Given the description of an element on the screen output the (x, y) to click on. 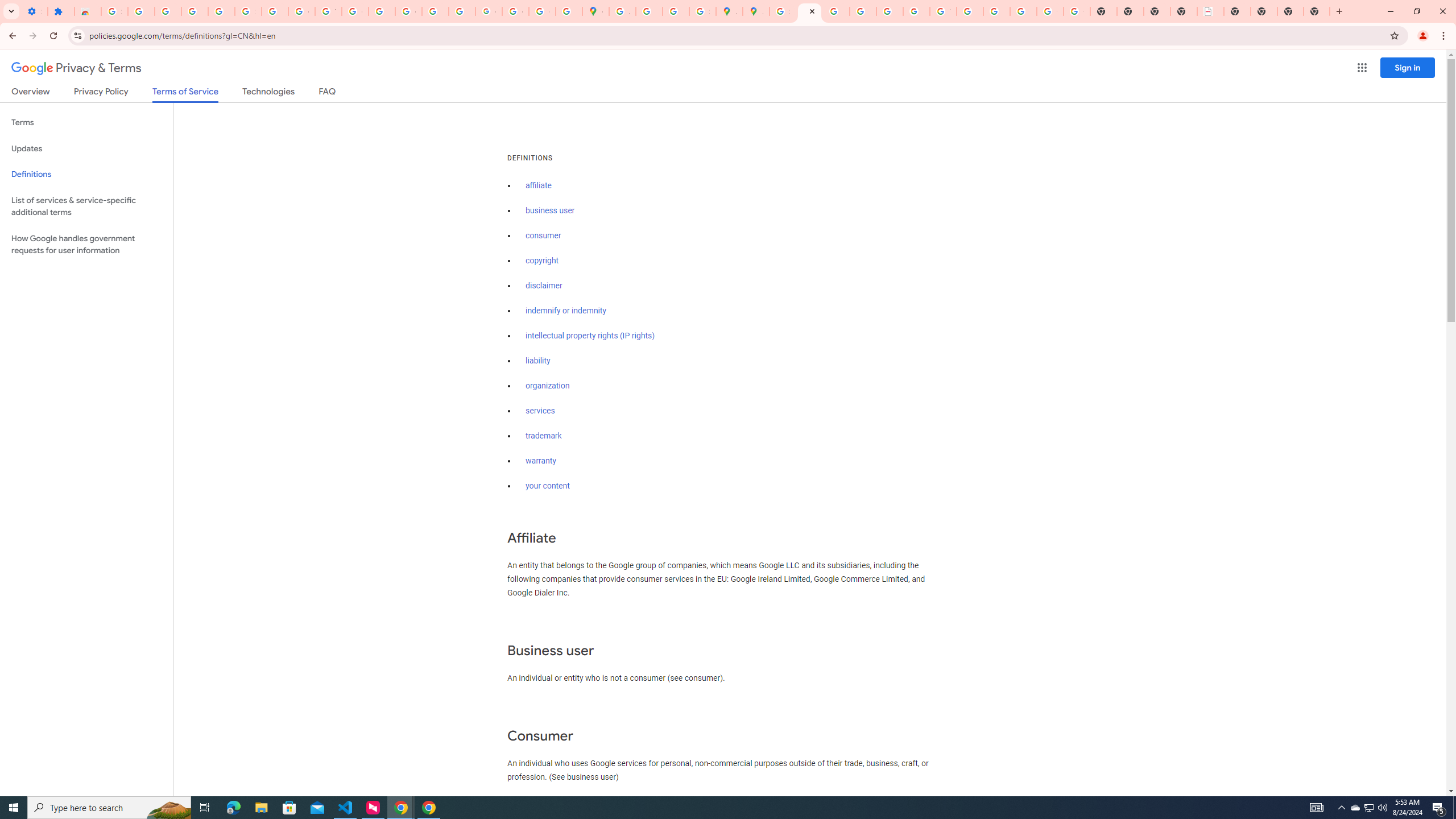
Updates (86, 148)
Extensions (61, 11)
organization (547, 385)
https://scholar.google.com/ (382, 11)
affiliate (538, 185)
Overview (30, 93)
FAQ (327, 93)
copyright (542, 260)
New Tab (1316, 11)
